Given the description of an element on the screen output the (x, y) to click on. 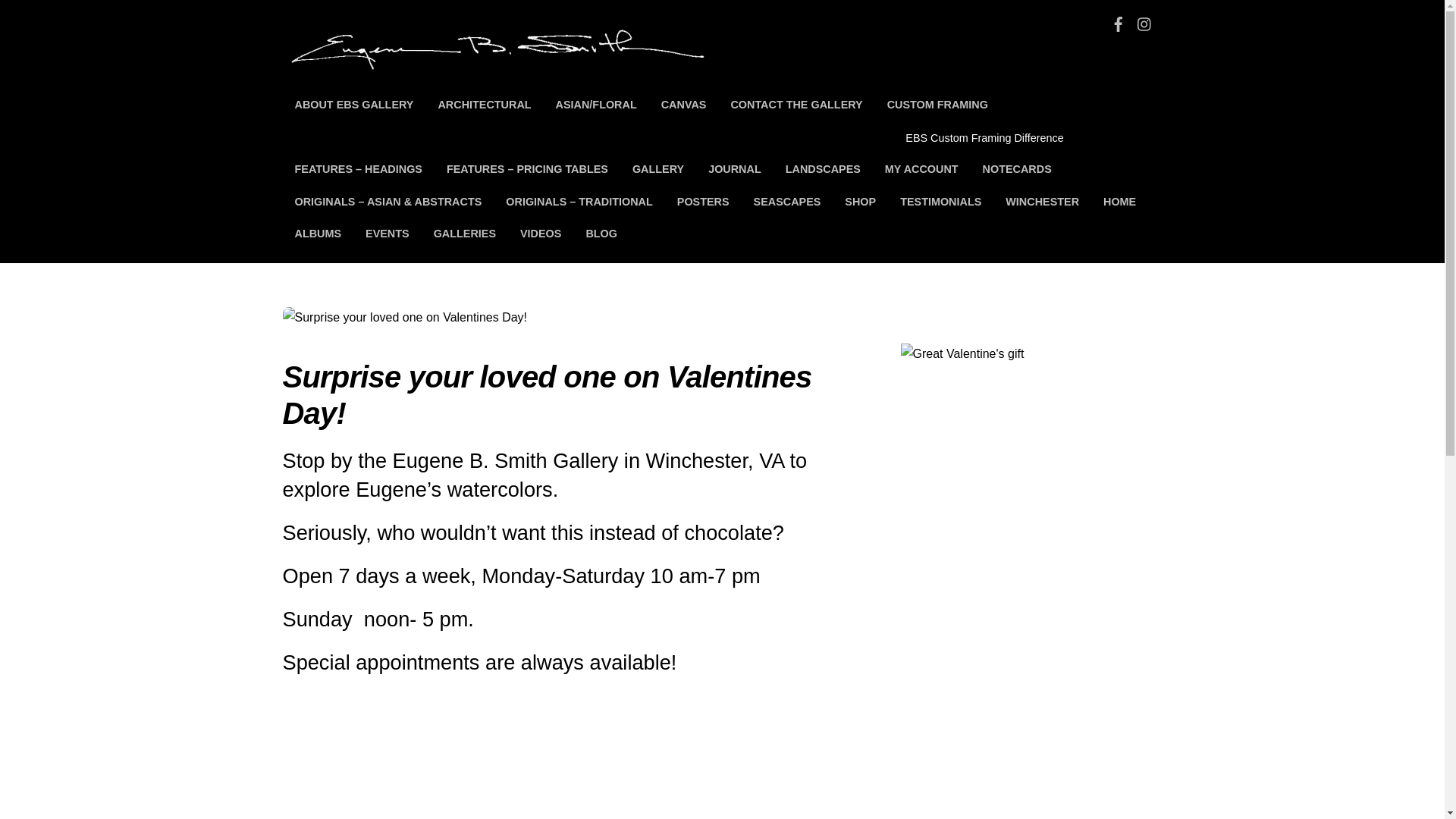
MY ACCOUNT (921, 169)
GALLERY (657, 169)
CANVAS (684, 104)
JOURNAL (734, 169)
NOTECARDS (1017, 169)
CUSTOM FRAMING (975, 104)
EVENTS (387, 233)
POSTERS (703, 202)
VIDEOS (540, 233)
ALBUMS (317, 233)
